Given the description of an element on the screen output the (x, y) to click on. 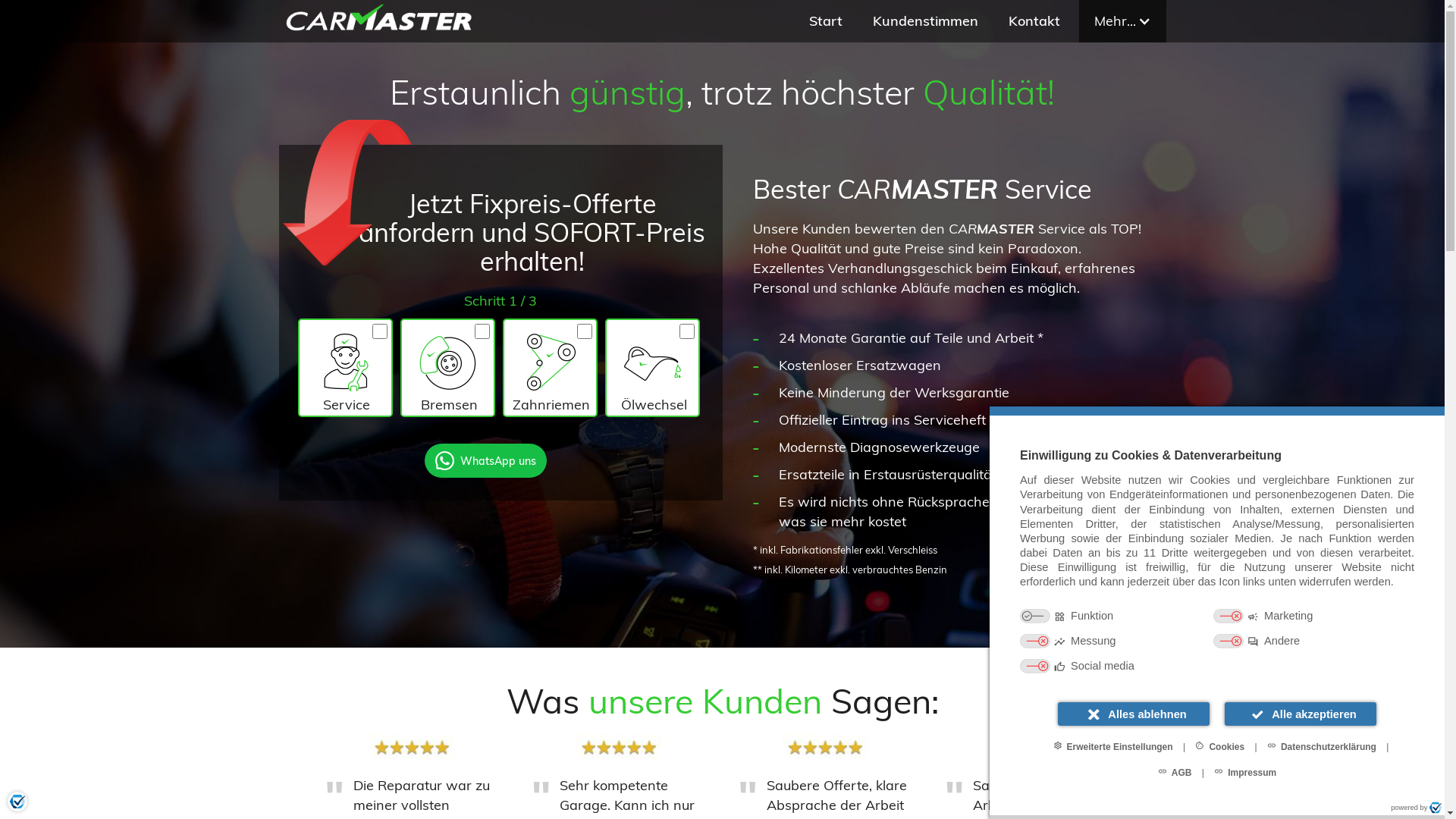
Datenschutz-Einstellungen Element type: hover (17, 801)
Kontakt Element type: text (1034, 21)
Alles ablehnen Element type: text (1133, 713)
Impressum Element type: text (1244, 771)
Cookies Element type: text (1219, 746)
Kundenstimmen Element type: text (924, 21)
Start Element type: text (824, 21)
AGB Element type: text (1174, 771)
Erweiterte Einstellungen Element type: text (1112, 746)
Alle akzeptieren Element type: text (1300, 713)
WhatsApp uns Element type: text (485, 464)
WhatsApp uns Element type: text (1368, 786)
1 Element type: text (42, 21)
